Given the description of an element on the screen output the (x, y) to click on. 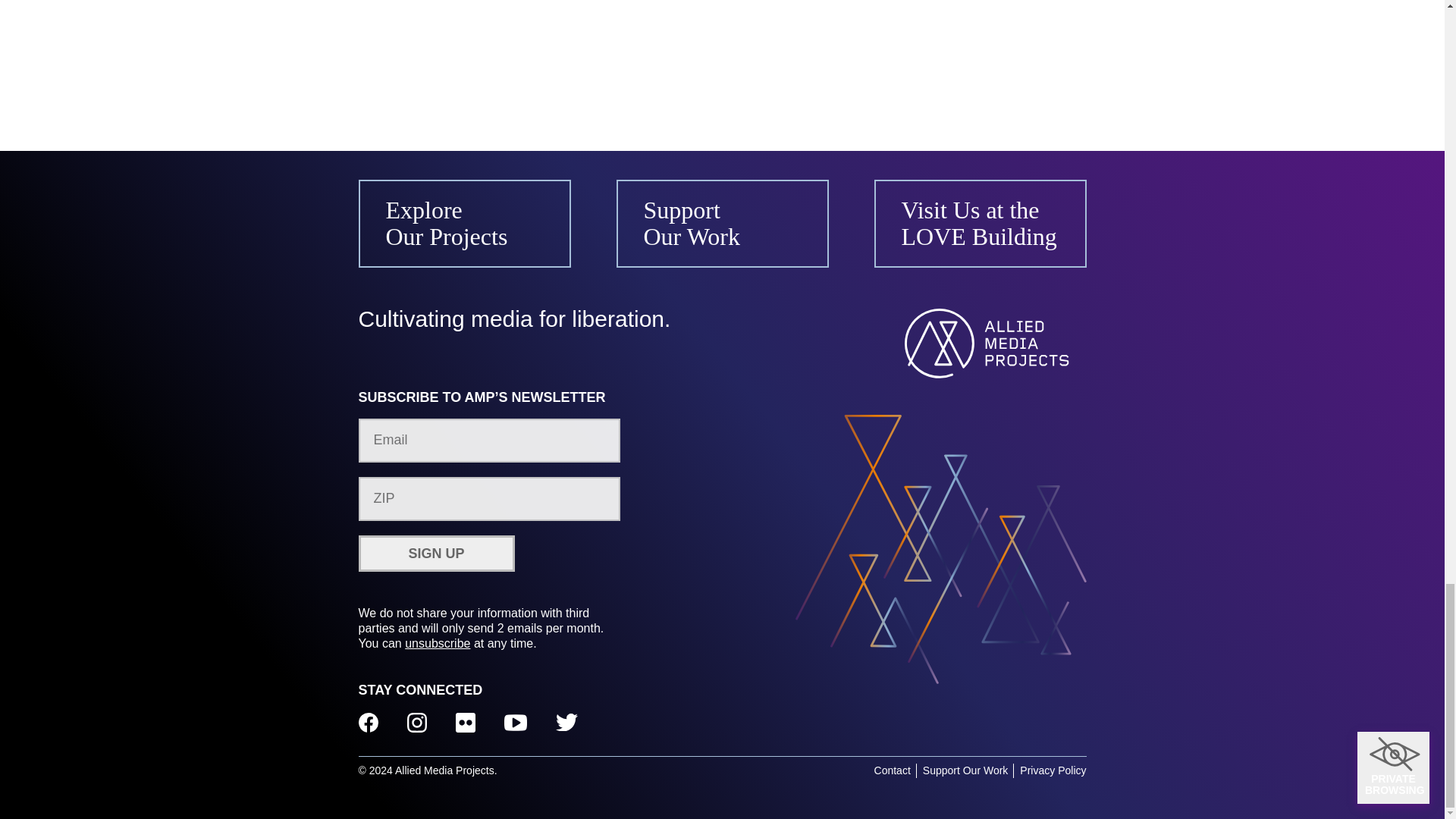
Privacy Policy (1053, 770)
Support Our Work (966, 770)
Allied Media Projects homepage (995, 343)
SIGN UP (435, 553)
Support Our Work (721, 223)
Our Land Till Death Commemoration Video (722, 52)
unsubscribe (437, 643)
Contact (893, 770)
Twitter (565, 723)
Visit Us at the LOVE Building (979, 223)
Explore Our Projects (464, 223)
